Given the description of an element on the screen output the (x, y) to click on. 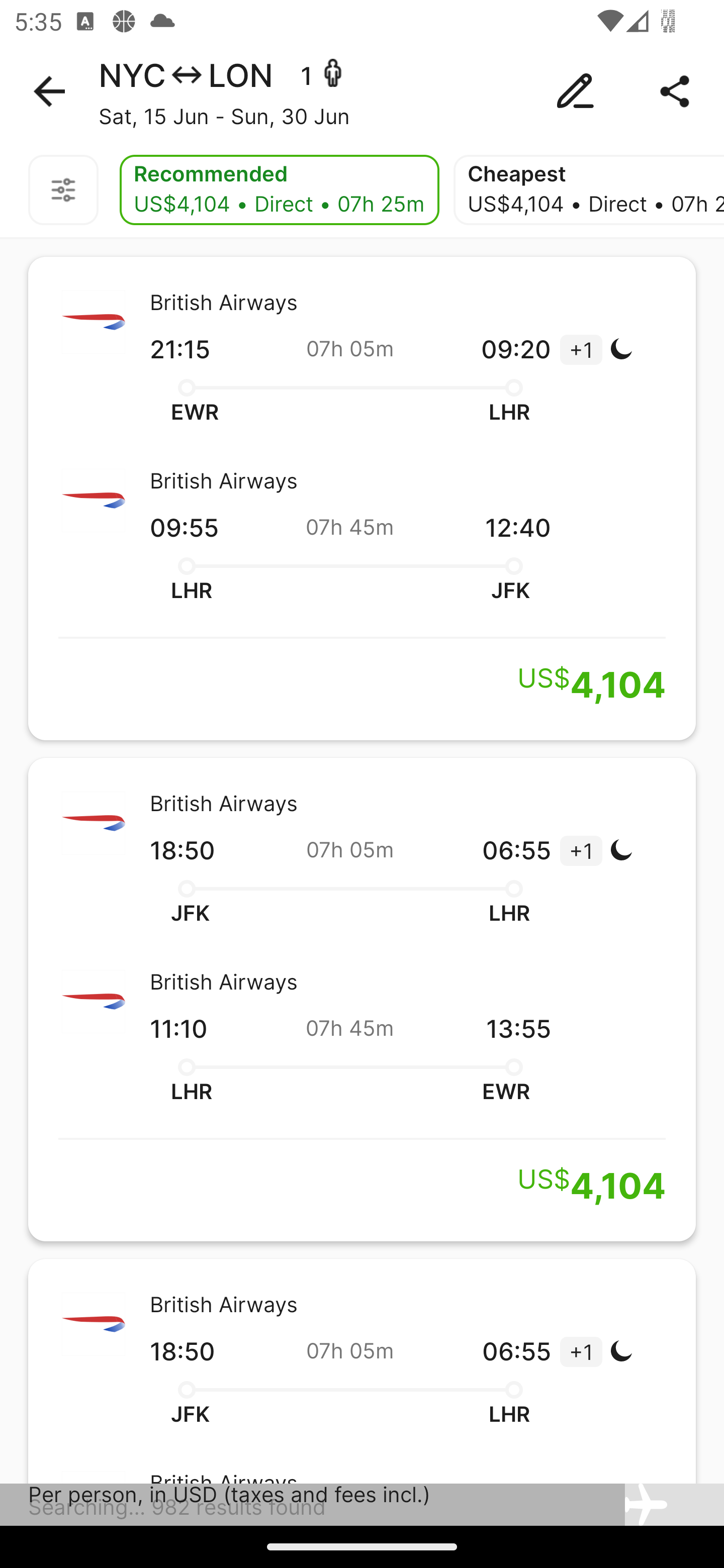
NYC LON   1 - Sat, 15 Jun - Sun, 30 Jun (361, 91)
Recommended  US$4,104 • Direct • 07h 25m (279, 190)
Cheapest US$4,104 • Direct • 07h 25m (588, 190)
